Given the description of an element on the screen output the (x, y) to click on. 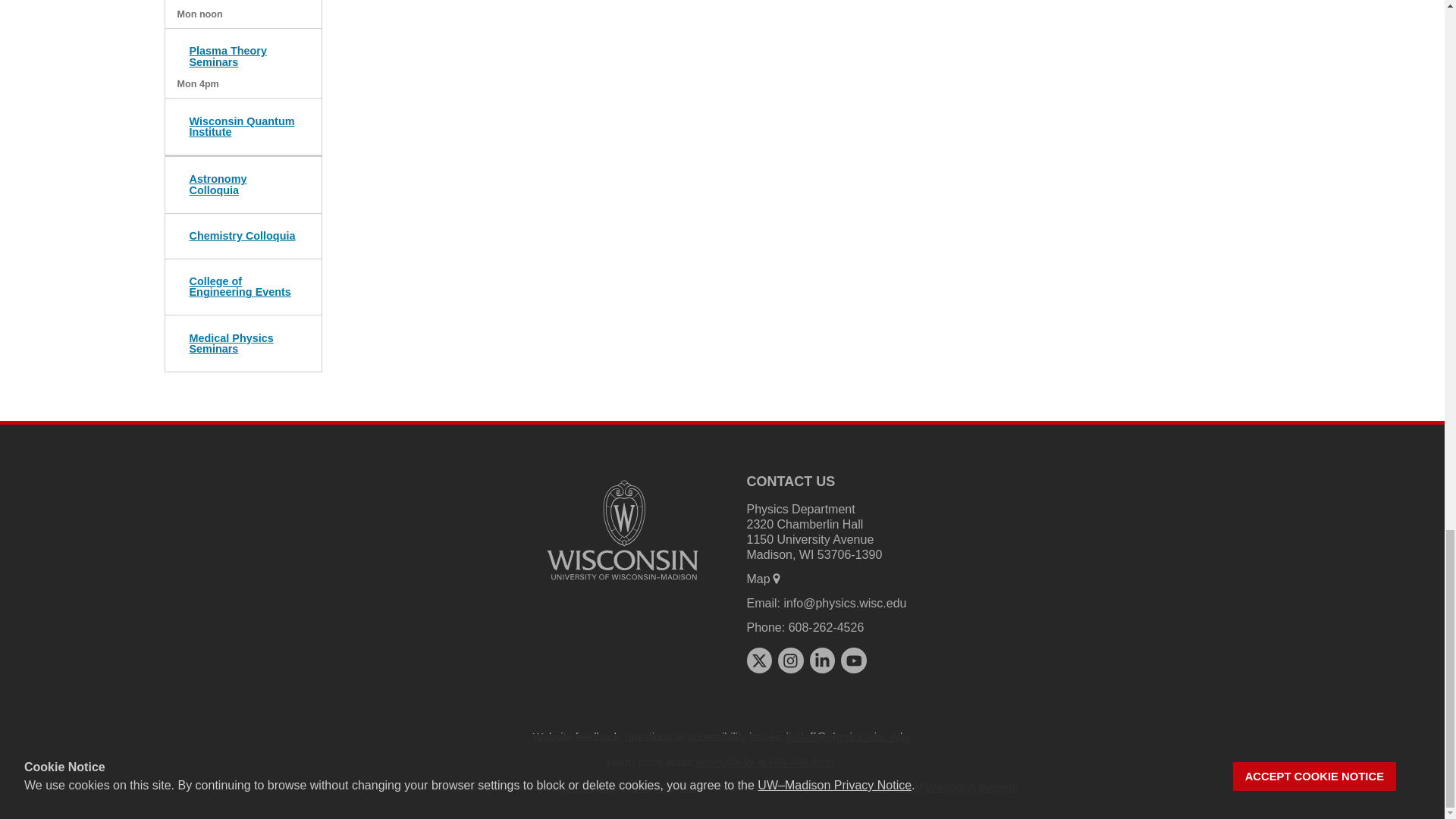
map marker (776, 578)
x twitter (759, 660)
University logo that links to main university website (621, 530)
instagram (790, 660)
youtube (853, 660)
linkedin (821, 660)
